Given the description of an element on the screen output the (x, y) to click on. 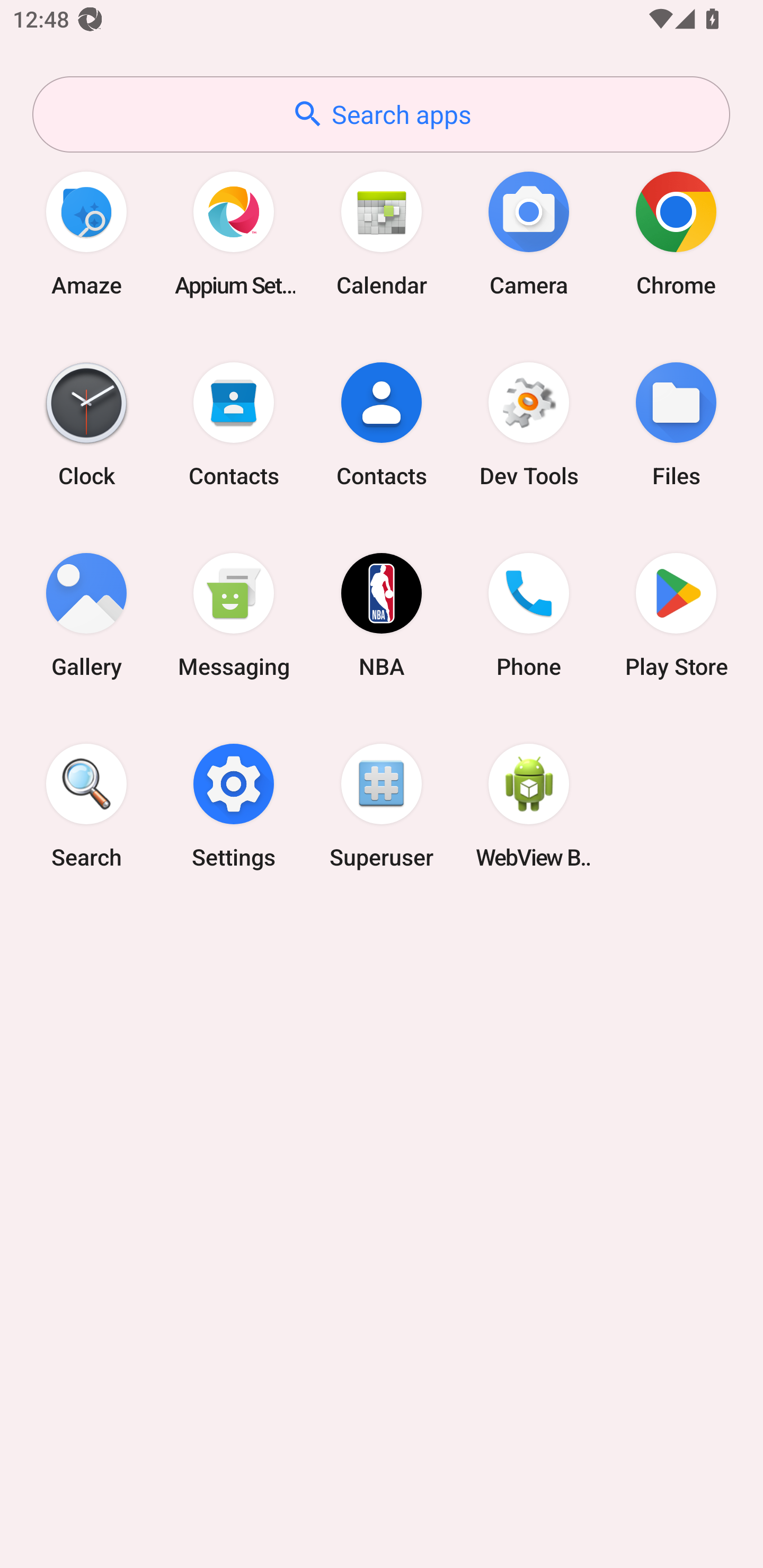
  Search apps (381, 114)
Amaze (86, 233)
Appium Settings (233, 233)
Calendar (381, 233)
Camera (528, 233)
Chrome (676, 233)
Clock (86, 424)
Contacts (233, 424)
Contacts (381, 424)
Dev Tools (528, 424)
Files (676, 424)
Gallery (86, 614)
Messaging (233, 614)
NBA (381, 614)
Phone (528, 614)
Play Store (676, 614)
Search (86, 805)
Settings (233, 805)
Superuser (381, 805)
WebView Browser Tester (528, 805)
